Given the description of an element on the screen output the (x, y) to click on. 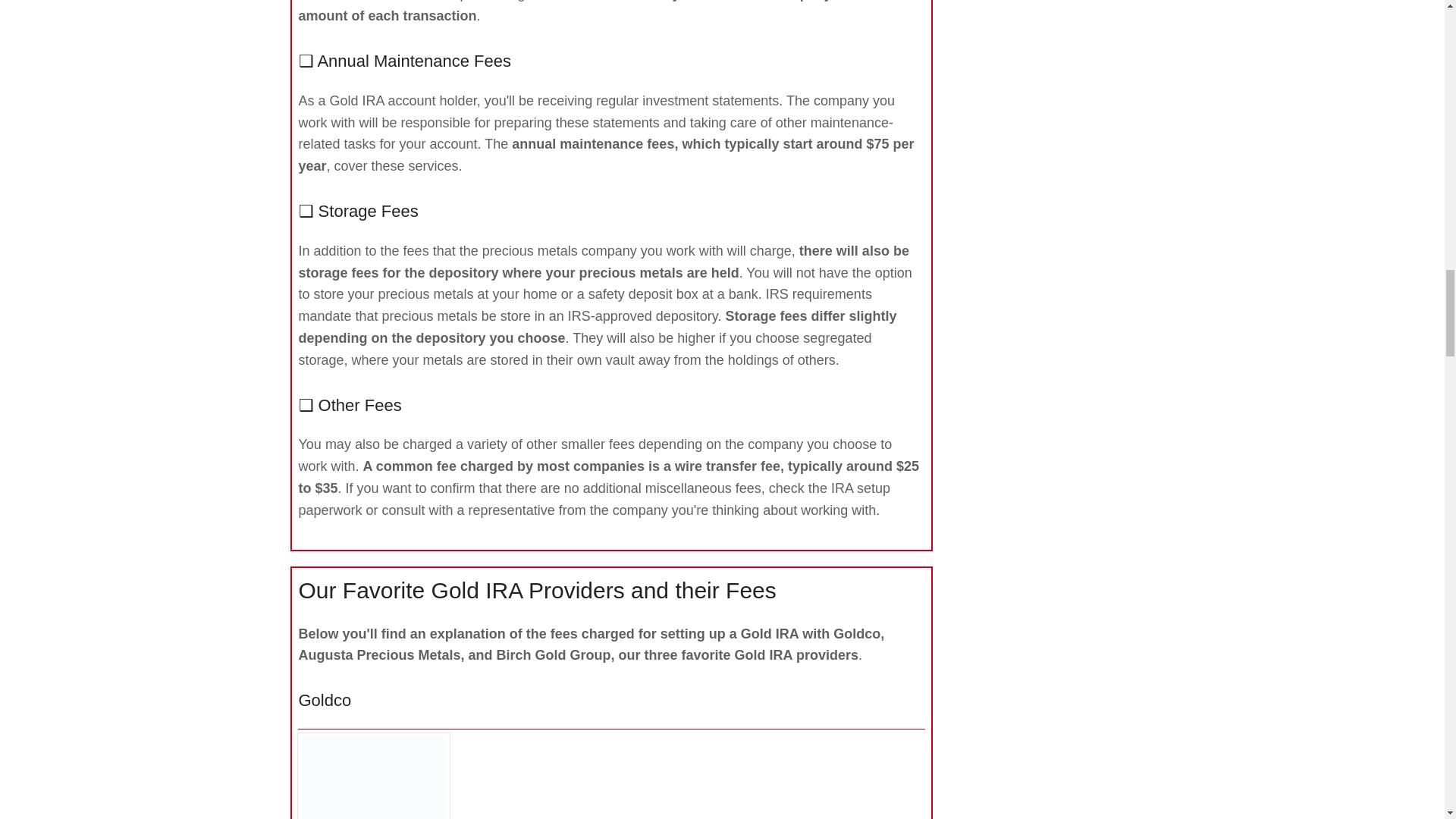
Goldco (373, 778)
